Given the description of an element on the screen output the (x, y) to click on. 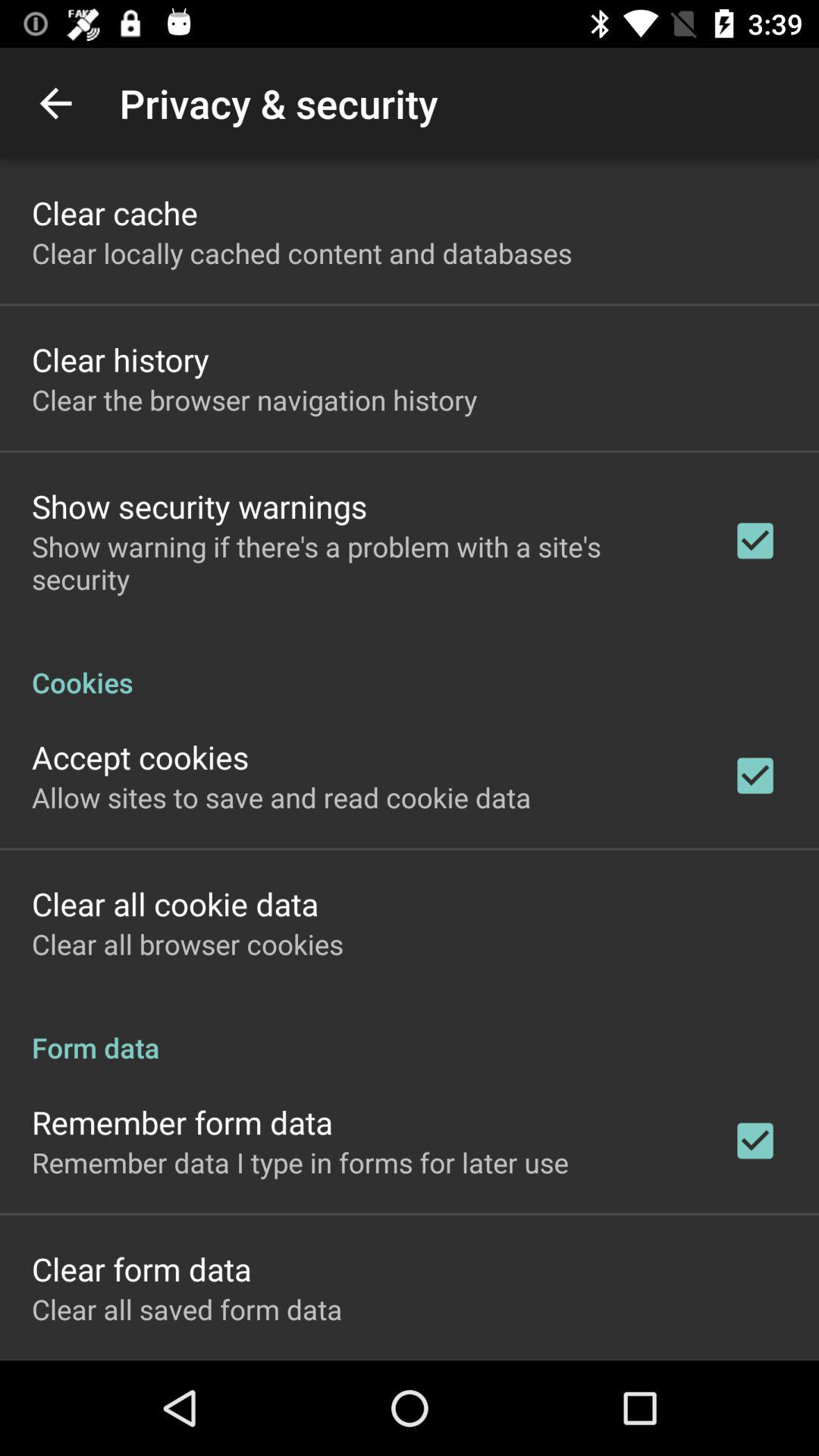
select item above the cookies item (361, 562)
